Given the description of an element on the screen output the (x, y) to click on. 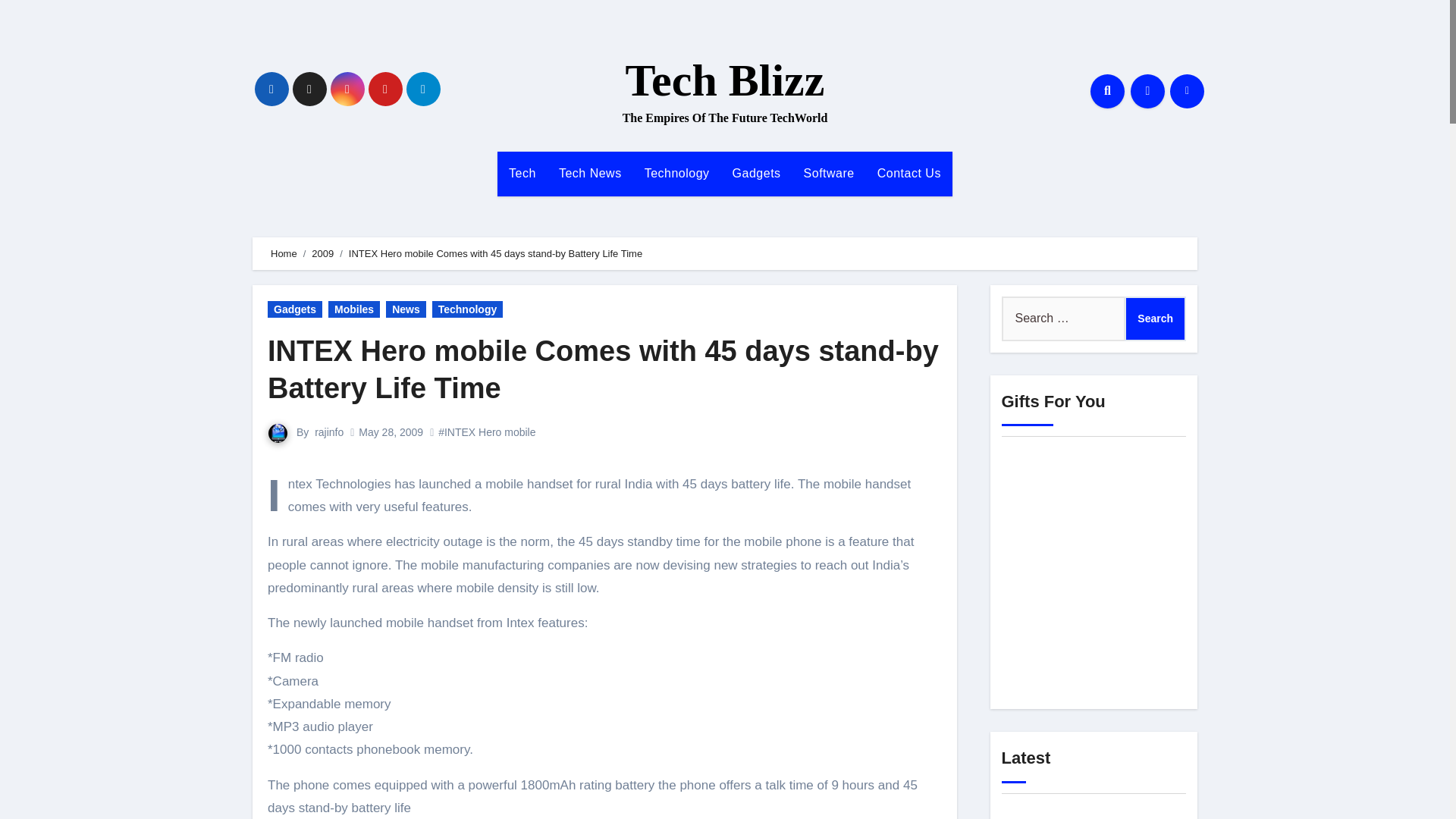
Technology (467, 309)
Tech (522, 173)
Technology (676, 173)
Gadgets (756, 173)
Search (1155, 318)
Gadgets (756, 173)
News (405, 309)
Tech News (590, 173)
Mobiles (354, 309)
Contact Us (909, 173)
